Given the description of an element on the screen output the (x, y) to click on. 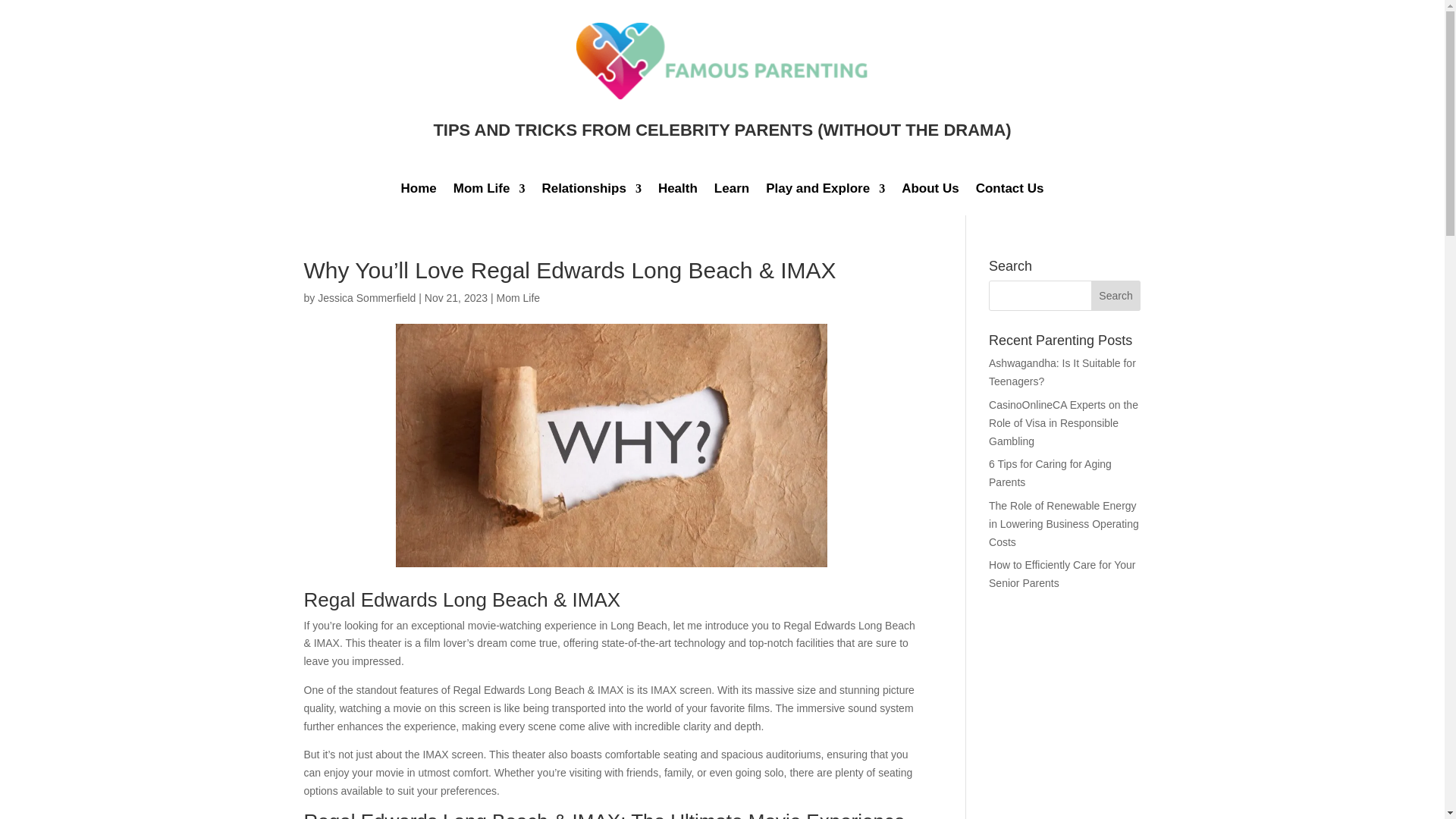
Contact Us (1009, 191)
Posts by Jessica Sommerfield (365, 297)
Mom Life (488, 191)
How to Efficiently Care for Your Senior Parents (1061, 573)
Search (1115, 295)
Ashwagandha: Is It Suitable for Teenagers? (1061, 372)
6 Tips for Caring for Aging Parents (1050, 472)
About Us (930, 191)
Home (418, 191)
Play and Explore (825, 191)
